Given the description of an element on the screen output the (x, y) to click on. 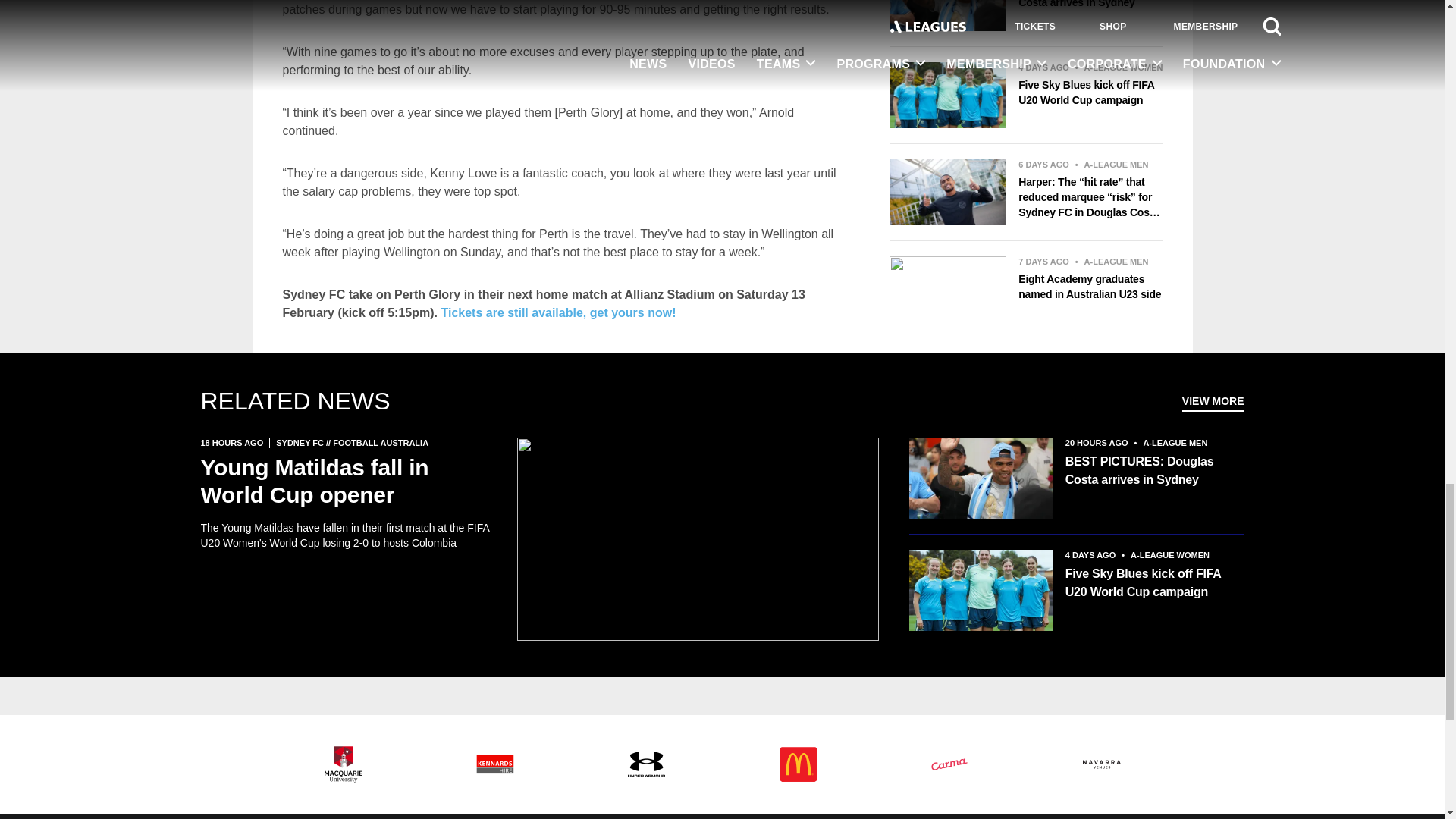
Carma (949, 763)
Kennards (493, 763)
McDonalds (797, 763)
Navarra (1101, 763)
Under Armour (645, 763)
Macquarie Uni (342, 763)
